Given the description of an element on the screen output the (x, y) to click on. 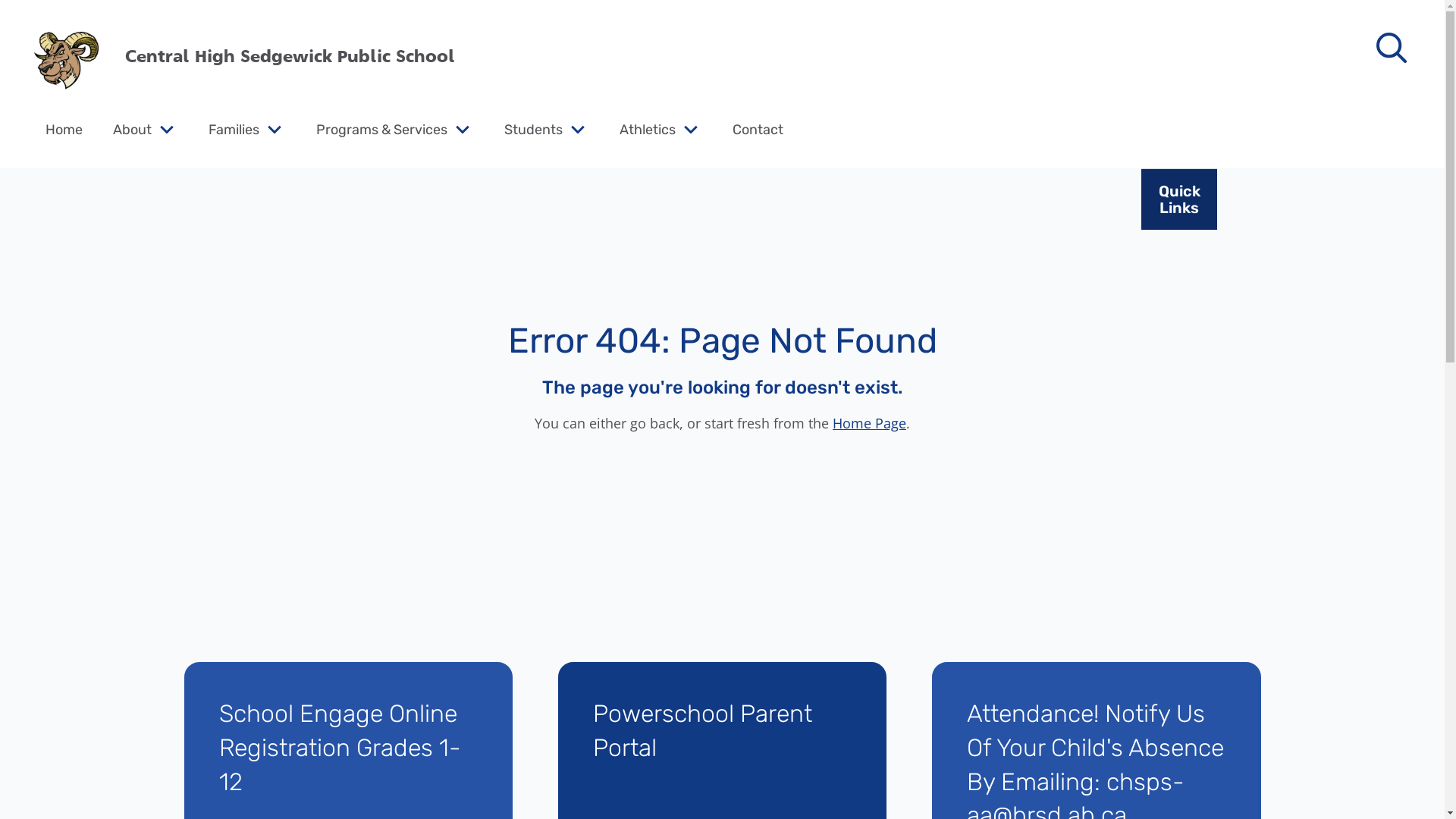
Programs & Services Element type: text (381, 129)
Contact Element type: text (757, 129)
Search Element type: text (45, 19)
home Element type: hover (64, 56)
Home Page Element type: text (869, 423)
About Element type: text (131, 129)
Families Element type: text (233, 129)
Students Element type: text (533, 129)
Quick Links Element type: text (1179, 198)
Home Element type: text (63, 129)
Athletics Element type: text (647, 129)
